Given the description of an element on the screen output the (x, y) to click on. 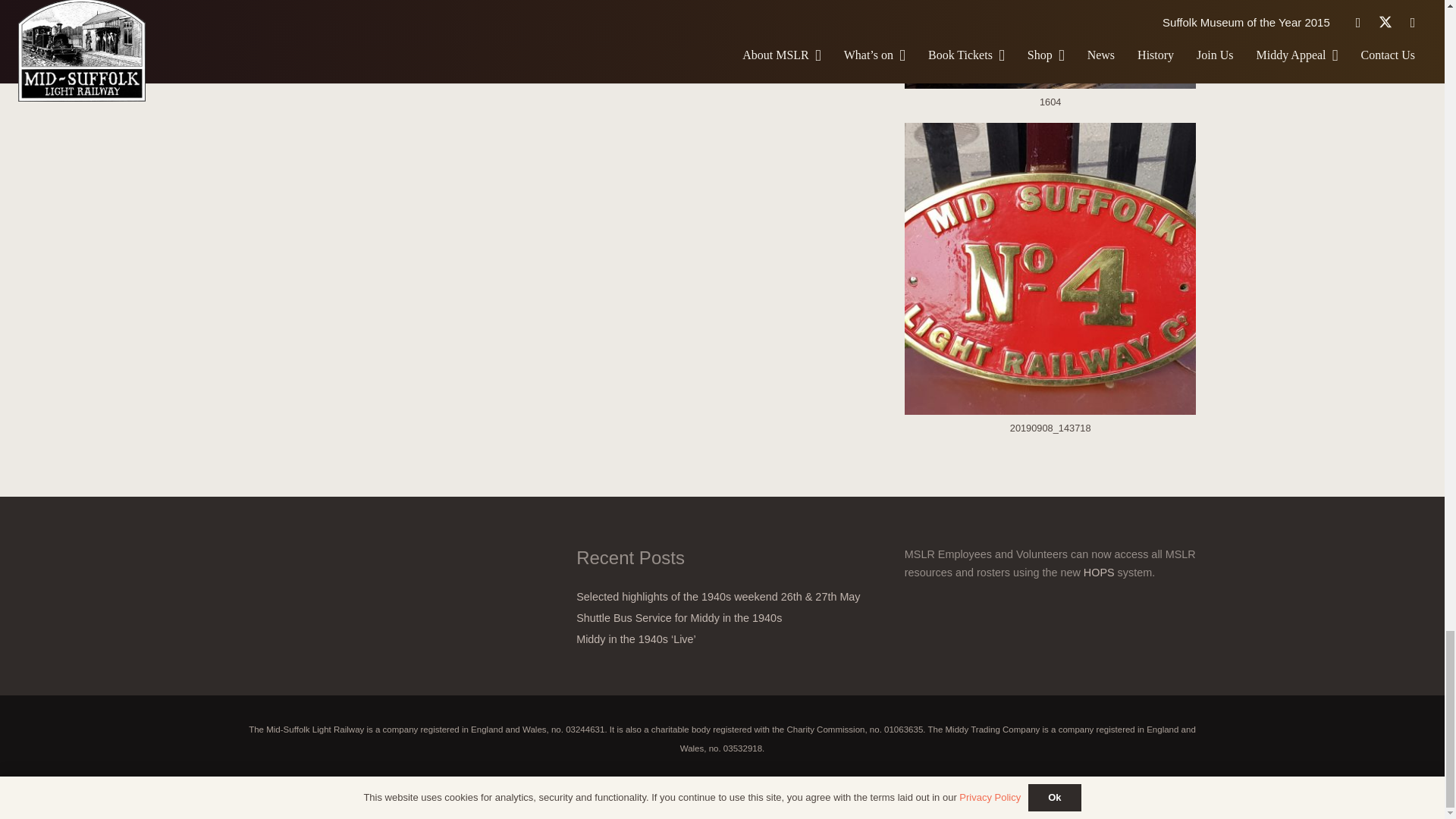
1604 (1050, 61)
